Given the description of an element on the screen output the (x, y) to click on. 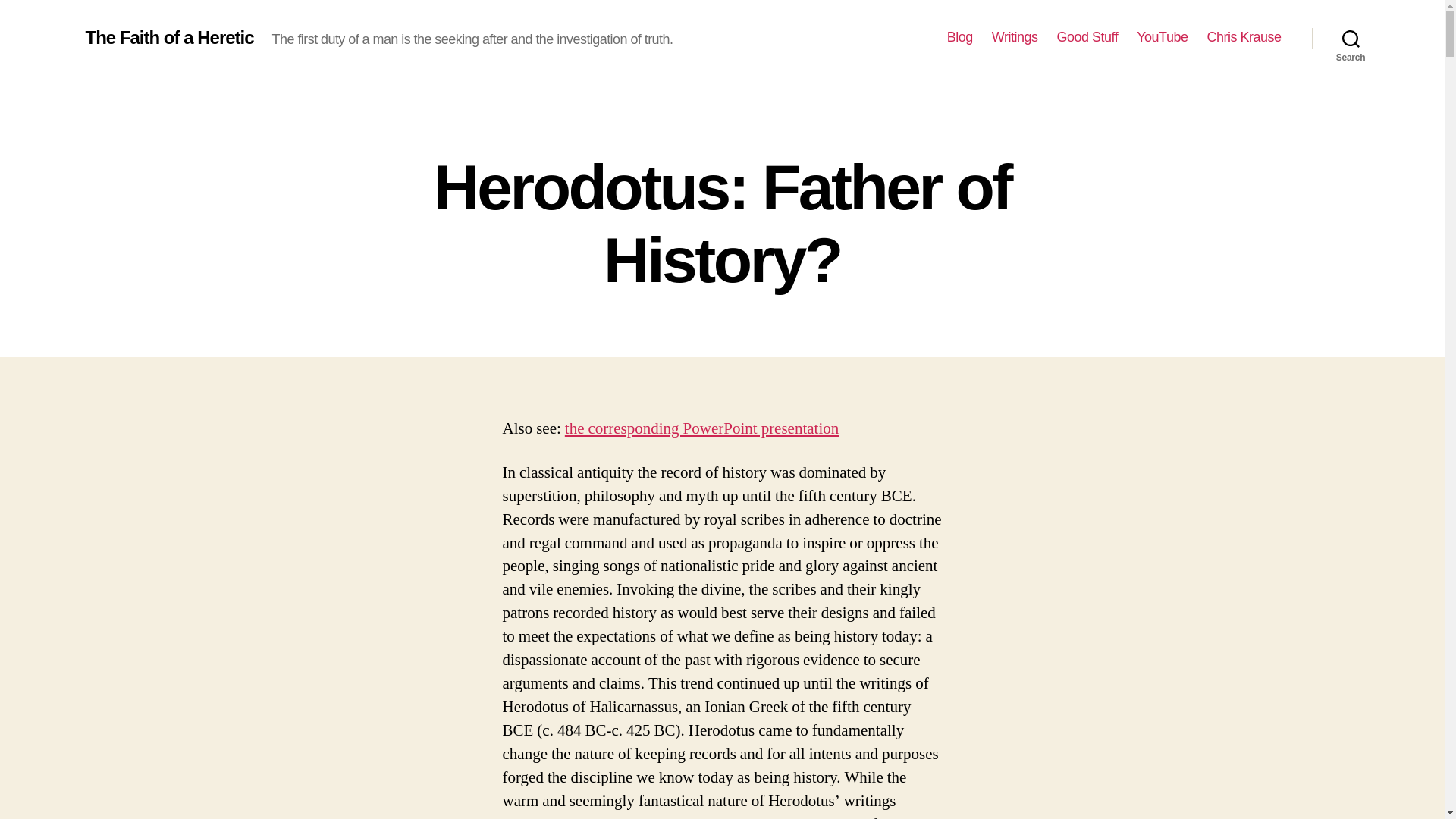
Blog (959, 37)
Writings (1014, 37)
The Faith of a Heretic (168, 37)
YouTube (1162, 37)
Search (1350, 37)
Good Stuff (1087, 37)
the corresponding PowerPoint presentation (701, 428)
Chris Krause (1244, 37)
